Given the description of an element on the screen output the (x, y) to click on. 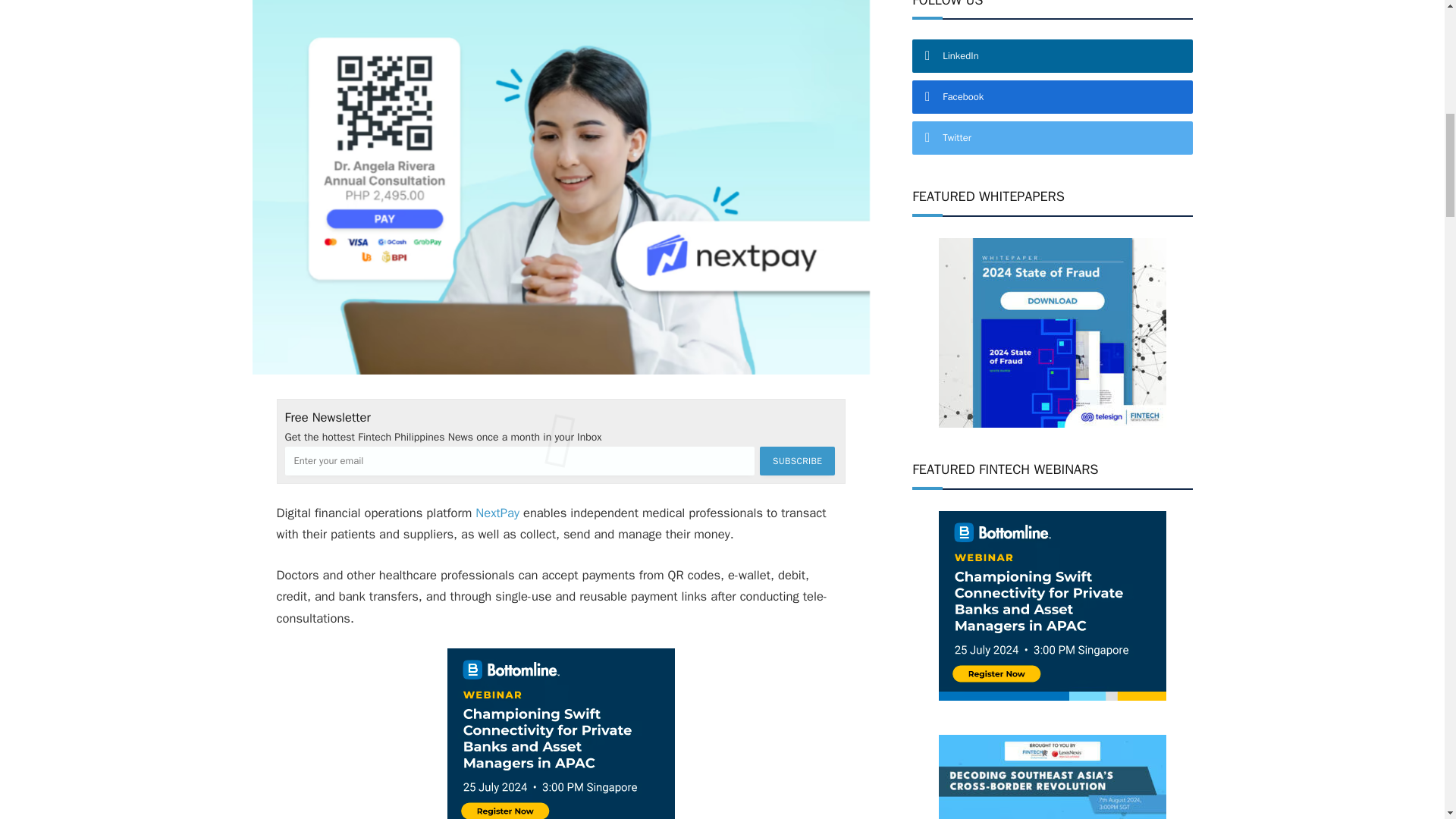
Subscribe (797, 460)
